Given the description of an element on the screen output the (x, y) to click on. 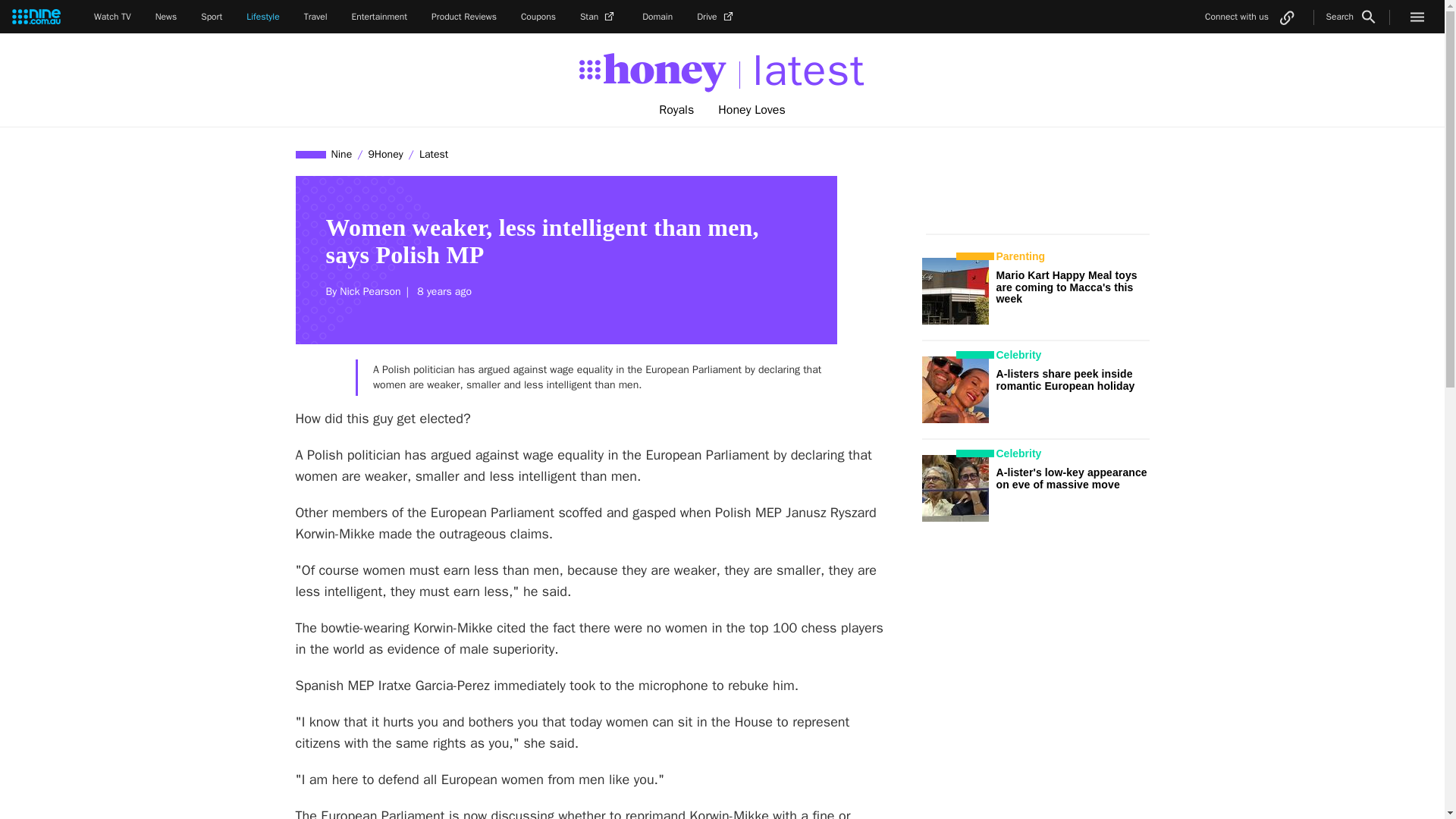
Stan (598, 16)
Lifestyle (262, 16)
Product Reviews (463, 16)
Domain (657, 16)
A-listers share peek inside romantic European holiday (1065, 379)
Nine (342, 154)
Entertainment (379, 16)
latest (801, 71)
Watch TV (112, 16)
2017-03-02 22:36 (441, 291)
